Given the description of an element on the screen output the (x, y) to click on. 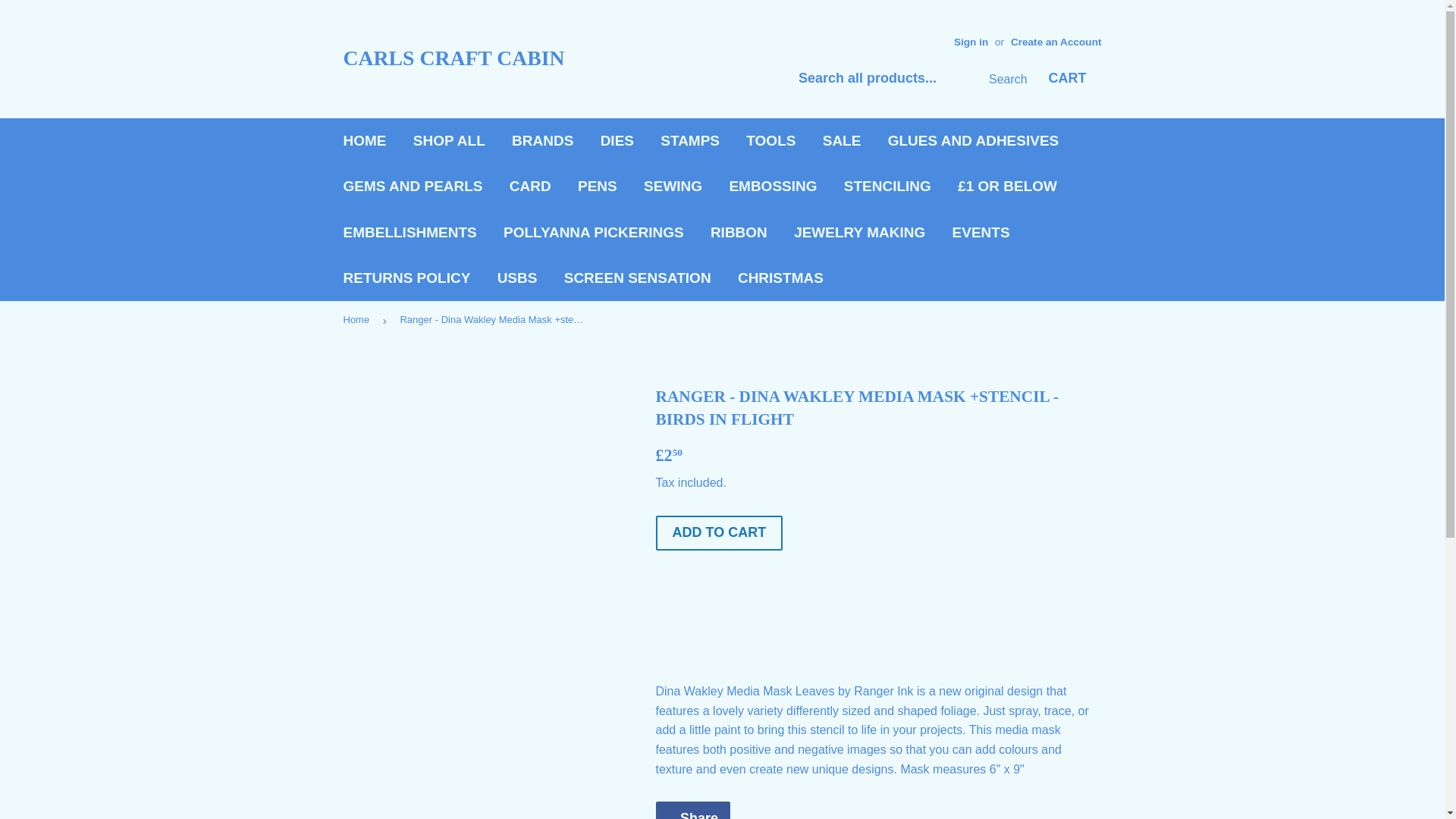
Search (1000, 79)
CART (1066, 78)
Sign in (970, 41)
Create an Account (1056, 41)
Share on Facebook (692, 810)
CARLS CRAFT CABIN (532, 58)
